Given the description of an element on the screen output the (x, y) to click on. 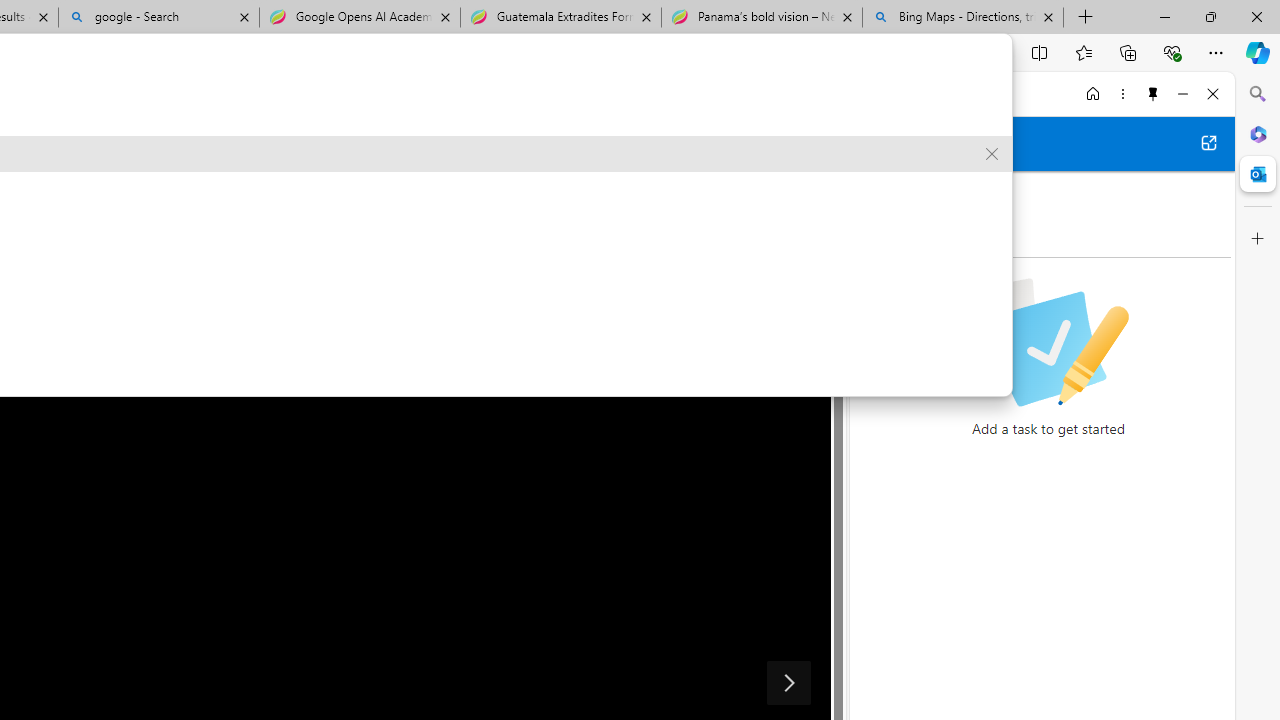
Enable or disable Media Viewer (800, 185)
Close this tool (Esc) (800, 101)
